Given the description of an element on the screen output the (x, y) to click on. 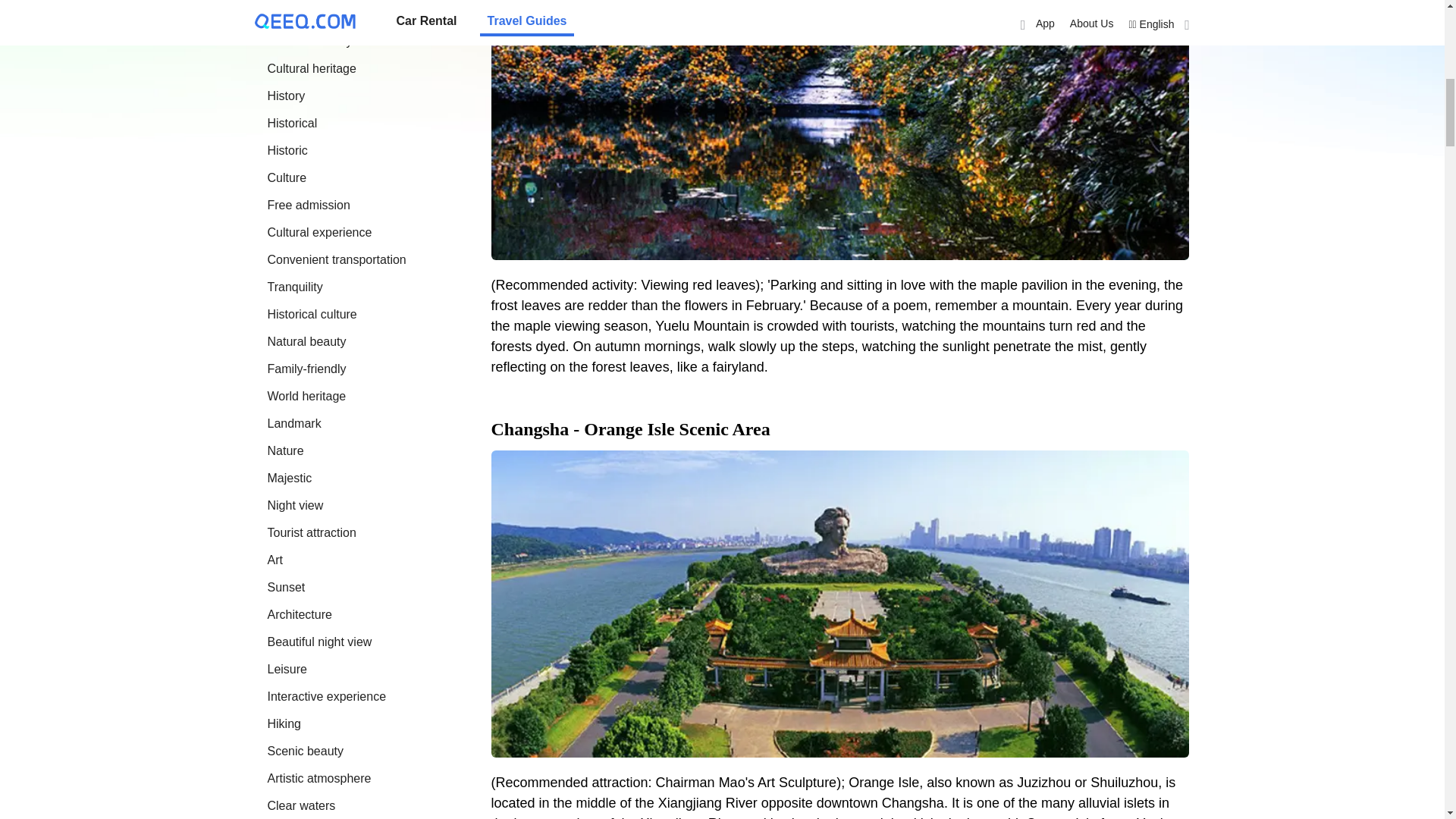
Free admission (307, 205)
Tourist attraction travel guides (310, 532)
Interactive experience (325, 696)
History travel guides (285, 95)
Historical culture travel guides (311, 314)
Historic travel guides (286, 150)
Art (274, 559)
Convenient transportation (336, 259)
Beautiful night view (318, 641)
Historical travel guides (291, 123)
